Given the description of an element on the screen output the (x, y) to click on. 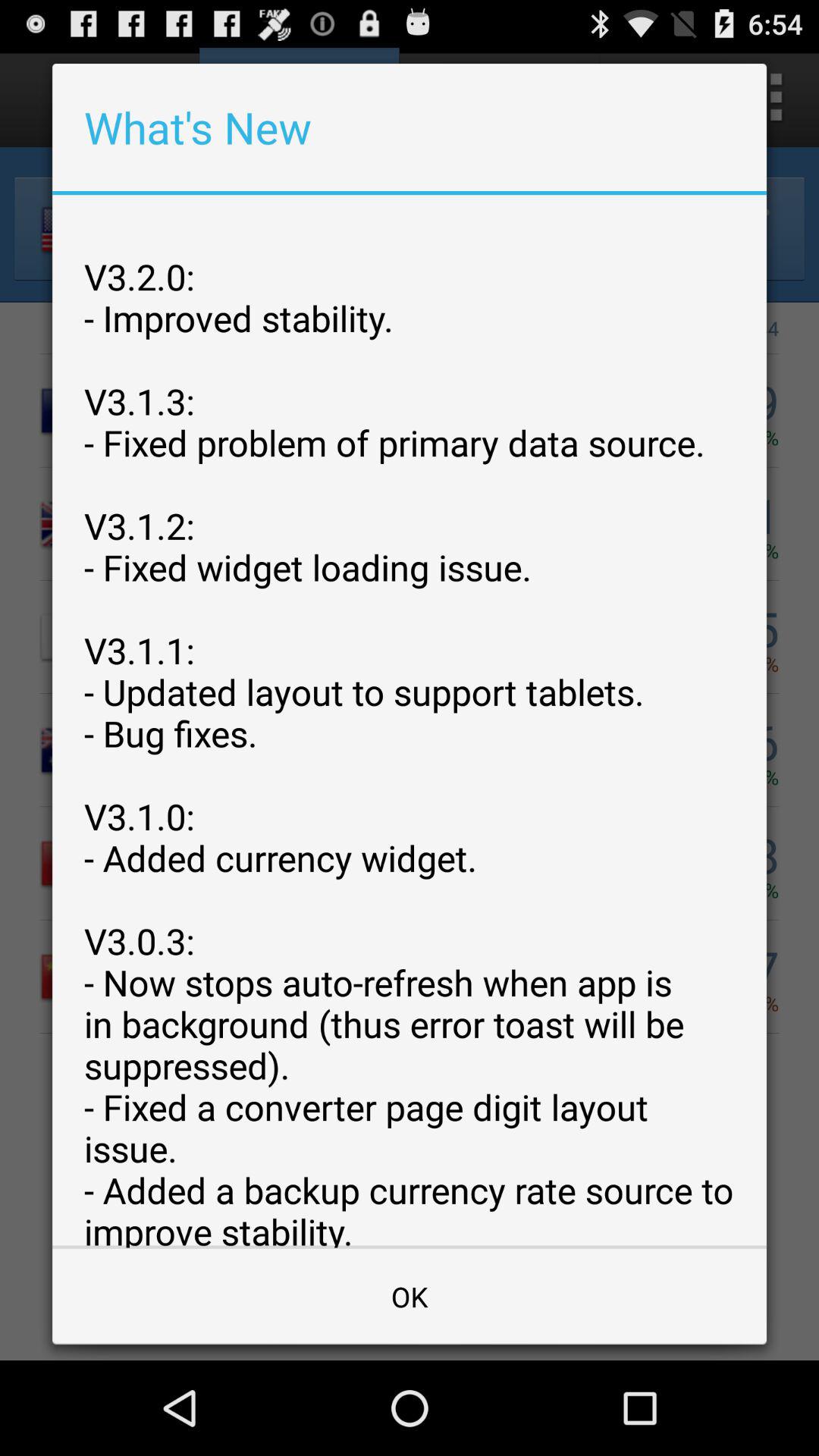
click the ok at the bottom (409, 1296)
